Given the description of an element on the screen output the (x, y) to click on. 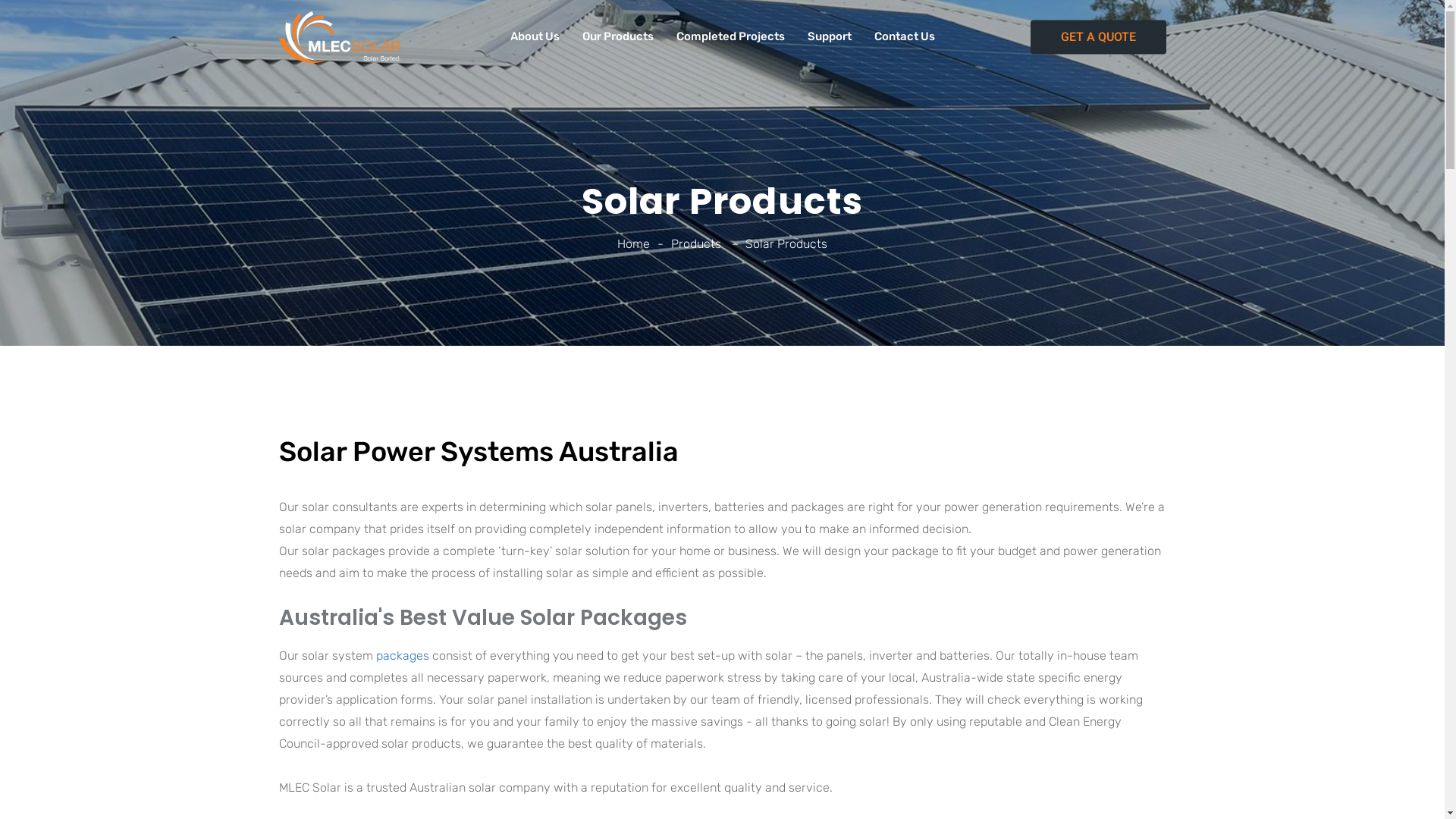
Our Products Element type: text (617, 35)
Home Element type: text (633, 243)
GET A QUOTE Element type: text (1097, 36)
Completed Projects Element type: text (730, 35)
logo Element type: hover (339, 36)
Contact Us Element type: text (903, 35)
Support Element type: text (828, 35)
packages Element type: text (402, 655)
Products Element type: text (696, 243)
About Us Element type: text (533, 35)
